Given the description of an element on the screen output the (x, y) to click on. 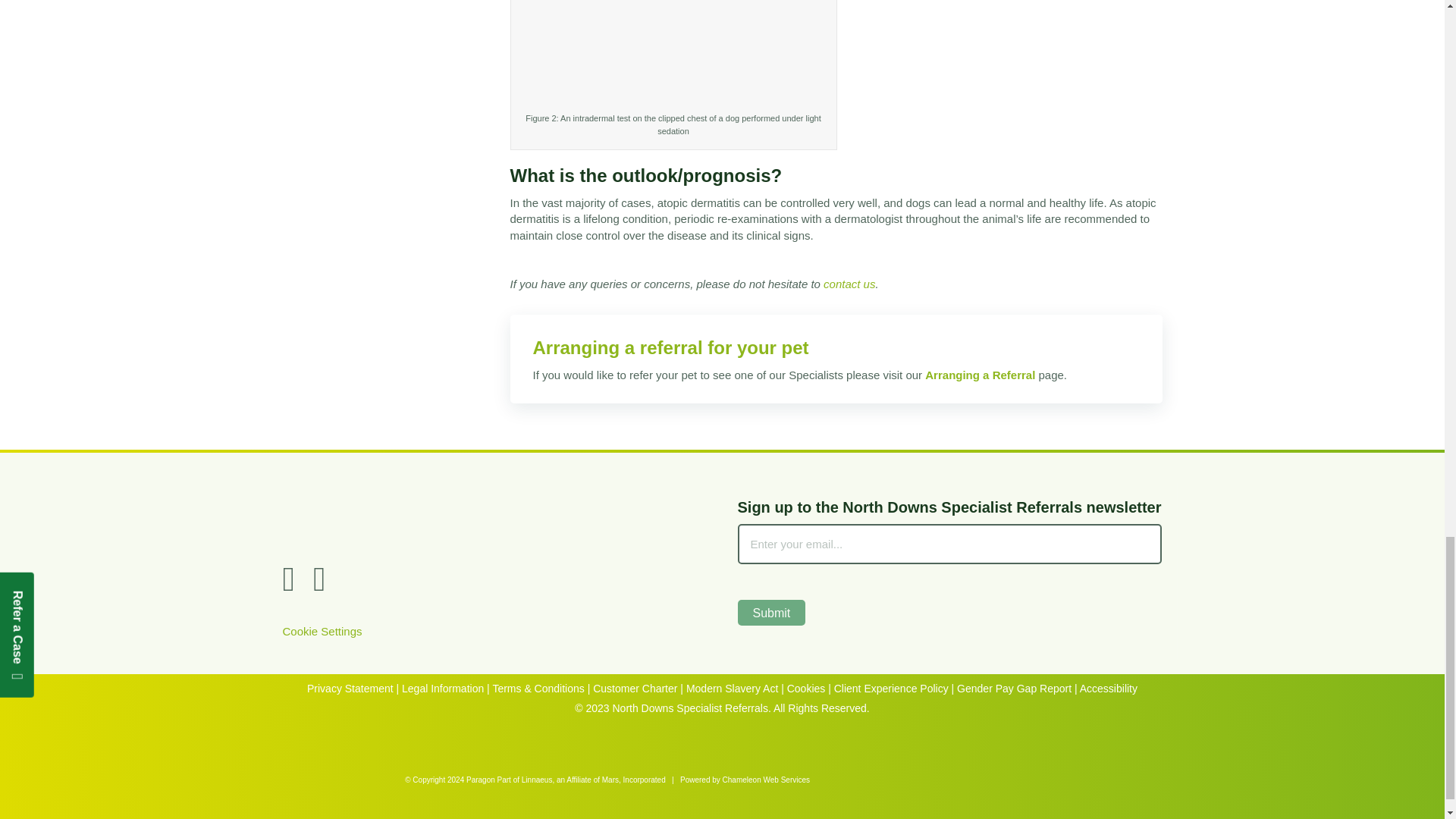
Submit (770, 611)
linnaeus-ndsr-logo-equal (494, 518)
Web Design Company (880, 778)
